Given the description of an element on the screen output the (x, y) to click on. 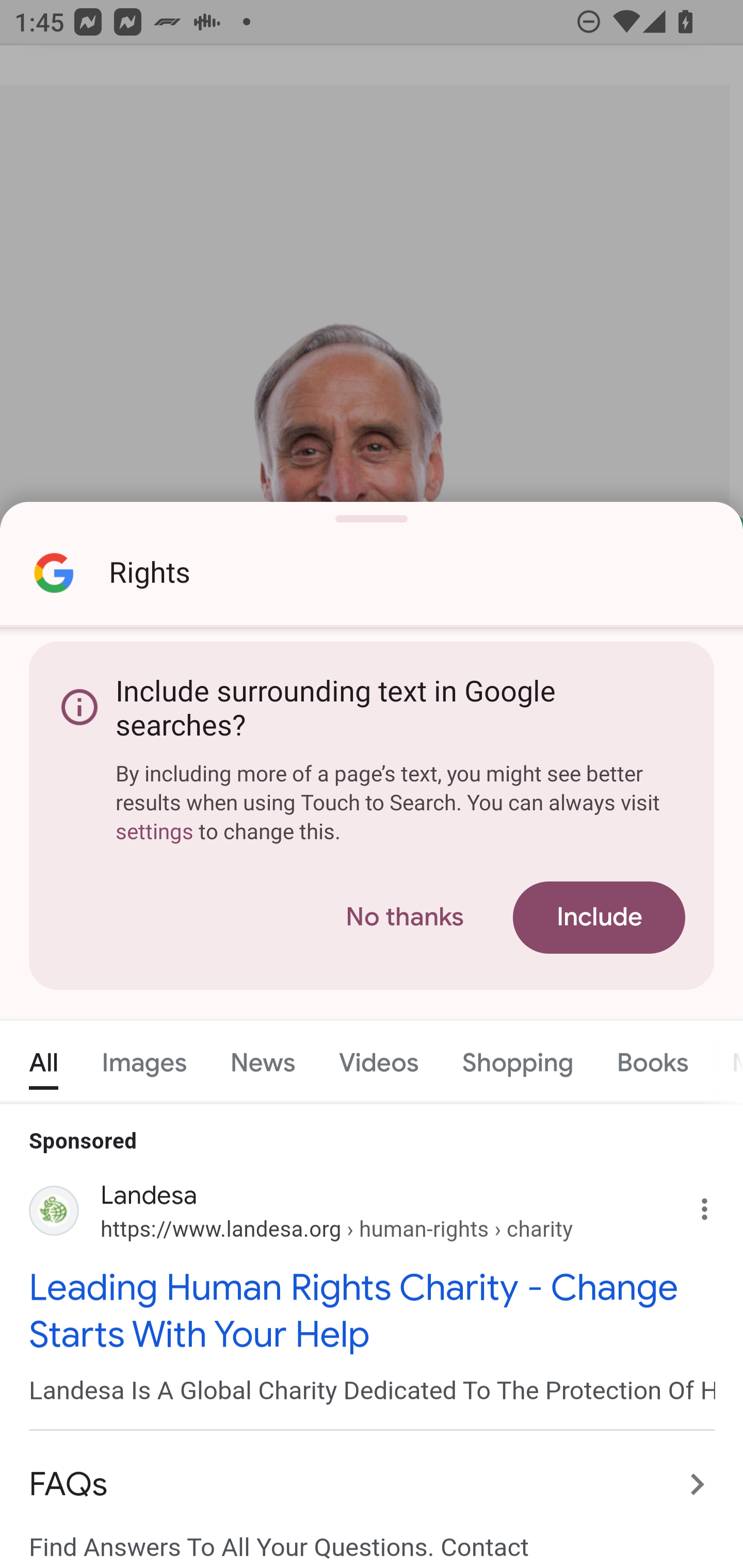
Contact Us (372, 709)
Corporate Engagement (372, 816)
No thanks (404, 917)
Include (598, 917)
Why this ad? (714, 1193)
